Given the description of an element on the screen output the (x, y) to click on. 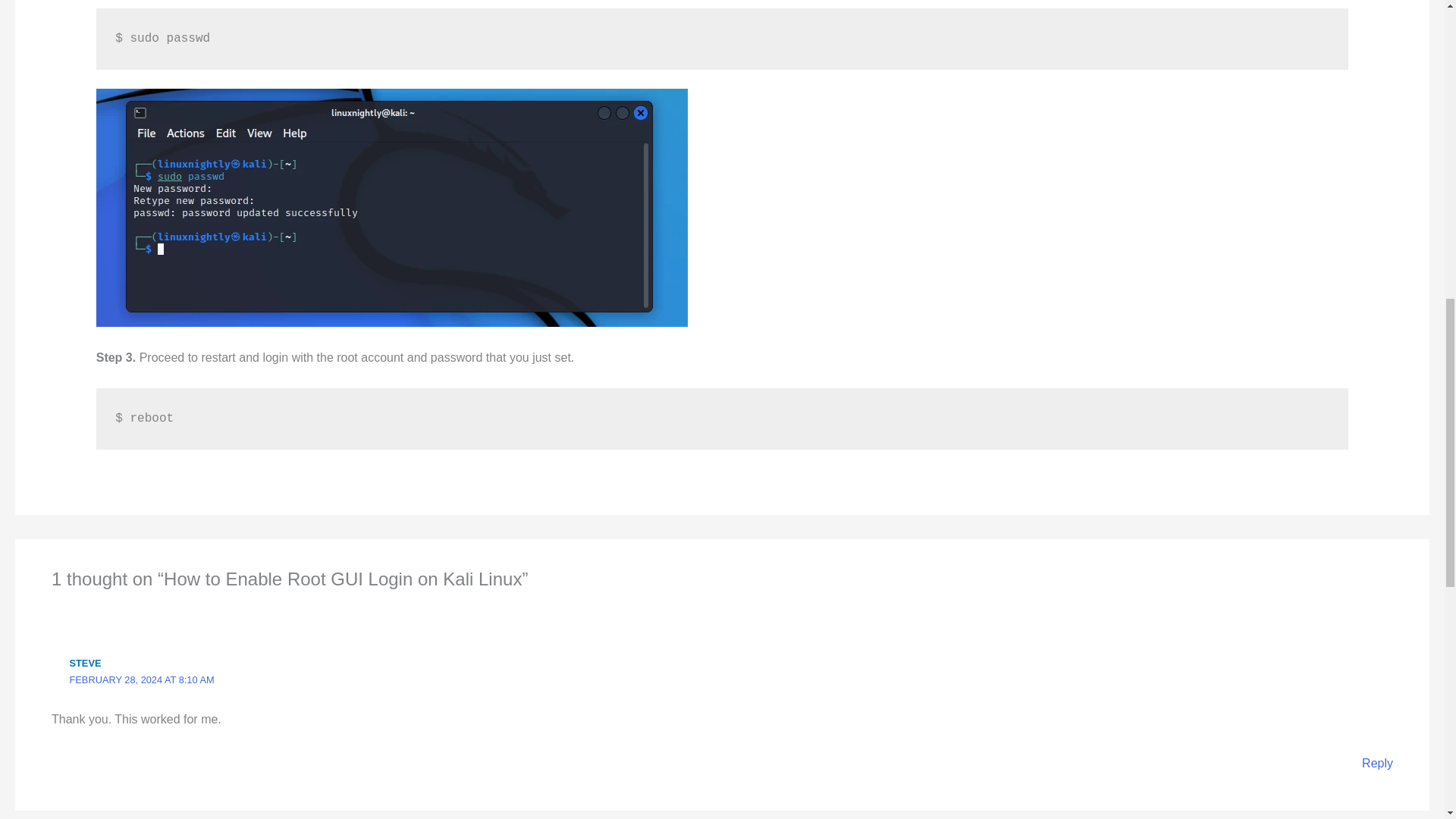
FEBRUARY 28, 2024 AT 8:10 AM (141, 679)
Reply (1377, 762)
